Given the description of an element on the screen output the (x, y) to click on. 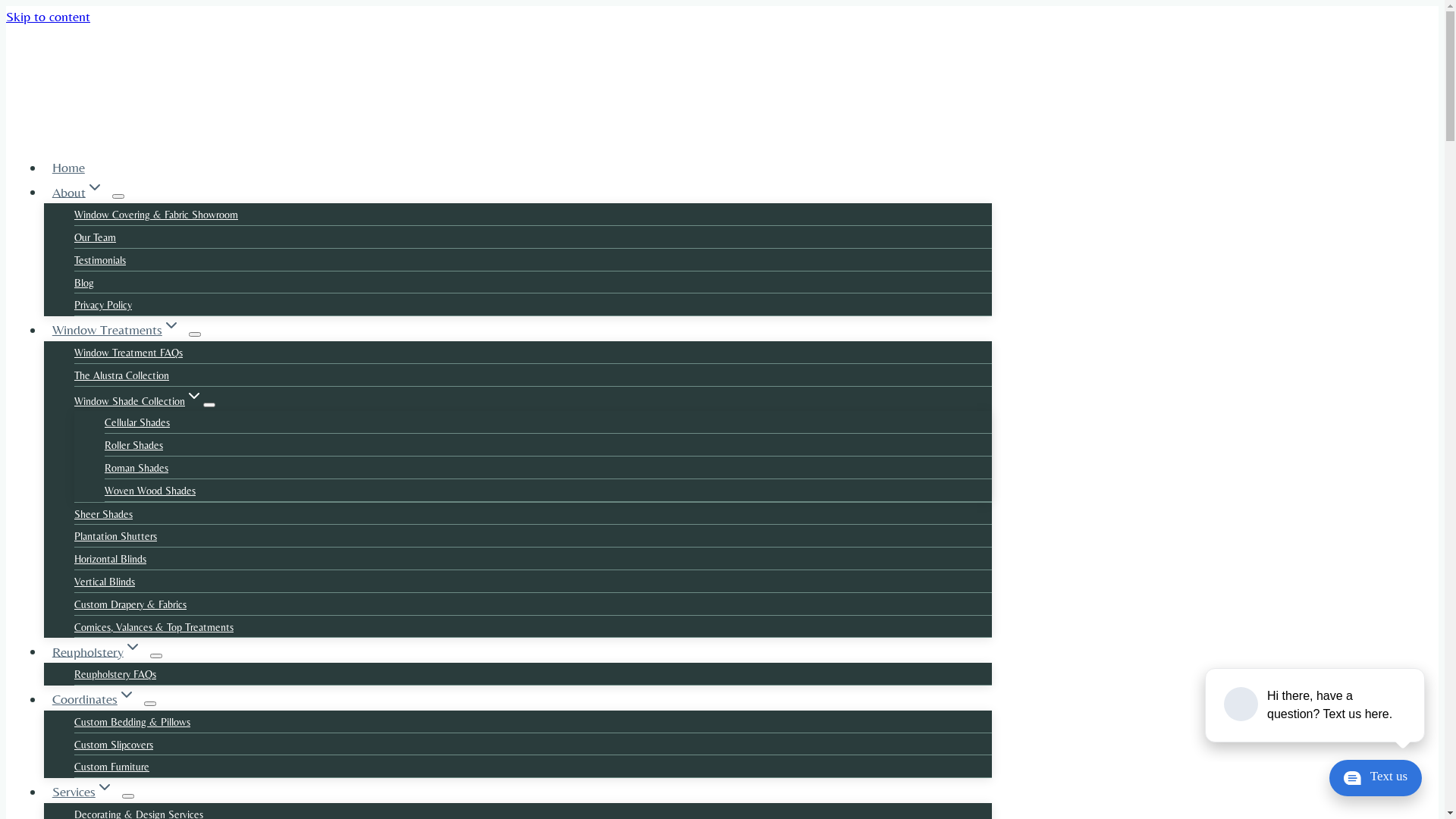
Sheer Shades Element type: text (103, 513)
ReupholsteryExpand Element type: text (96, 651)
Horizontal Blinds Element type: text (110, 558)
Our Team Element type: text (95, 237)
AboutExpand Element type: text (77, 191)
Blog Element type: text (84, 282)
Roman Shades Element type: text (136, 467)
Privacy Policy Element type: text (102, 304)
Custom Bedding & Pillows Element type: text (132, 721)
Window Shade CollectionExpand Element type: text (138, 400)
Home Element type: text (68, 166)
Window Covering & Fabric Showroom Element type: text (156, 214)
Roller Shades Element type: text (133, 444)
Skip to content Element type: text (48, 16)
podium webchat widget prompt Element type: hover (1315, 705)
The Alustra Collection Element type: text (121, 375)
Custom Furniture Element type: text (111, 766)
Custom Slipcovers Element type: text (113, 744)
Cellular Shades Element type: text (136, 422)
Vertical Blinds Element type: text (104, 581)
Cornices, Valances & Top Treatments Element type: text (153, 626)
Custom Drapery & Fabrics Element type: text (130, 604)
Testimonials Element type: text (99, 259)
Window TreatmentsExpand Element type: text (115, 329)
Window Treatment FAQs Element type: text (128, 352)
Plantation Shutters Element type: text (115, 535)
Reupholstery FAQs Element type: text (115, 673)
CoordinatesExpand Element type: text (93, 698)
Woven Wood Shades Element type: text (149, 490)
ServicesExpand Element type: text (82, 791)
